Given the description of an element on the screen output the (x, y) to click on. 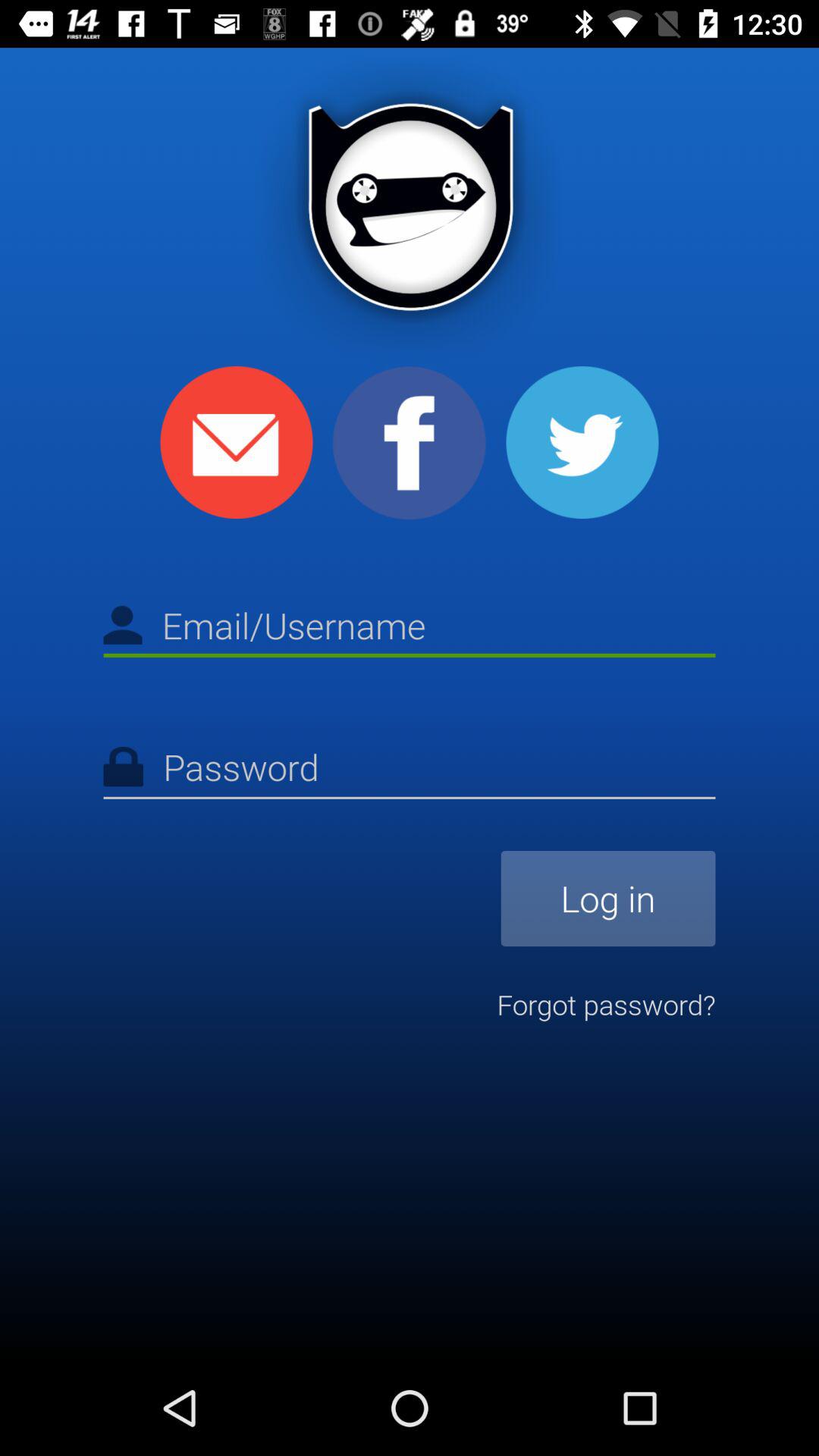
twitter (582, 442)
